Given the description of an element on the screen output the (x, y) to click on. 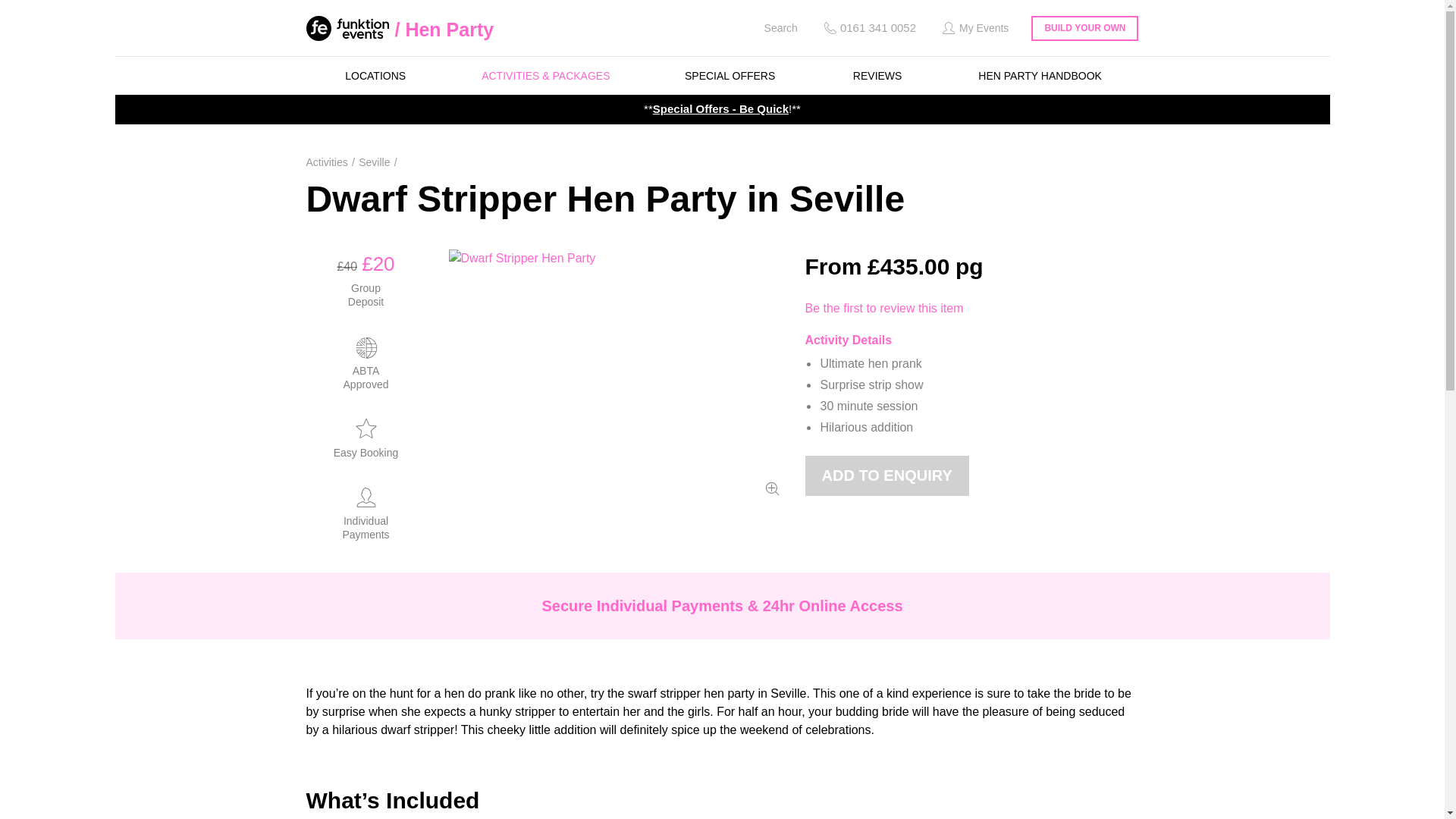
0161 341 0052 (868, 28)
SPECIAL OFFERS (729, 75)
REVIEWS (876, 75)
Hen Party (443, 29)
Search (770, 28)
Add to enquiry (887, 475)
Find event you are looking for (770, 28)
HEN PARTY HANDBOOK (1040, 75)
My Events (974, 28)
LOCATIONS (375, 75)
